Given the description of an element on the screen output the (x, y) to click on. 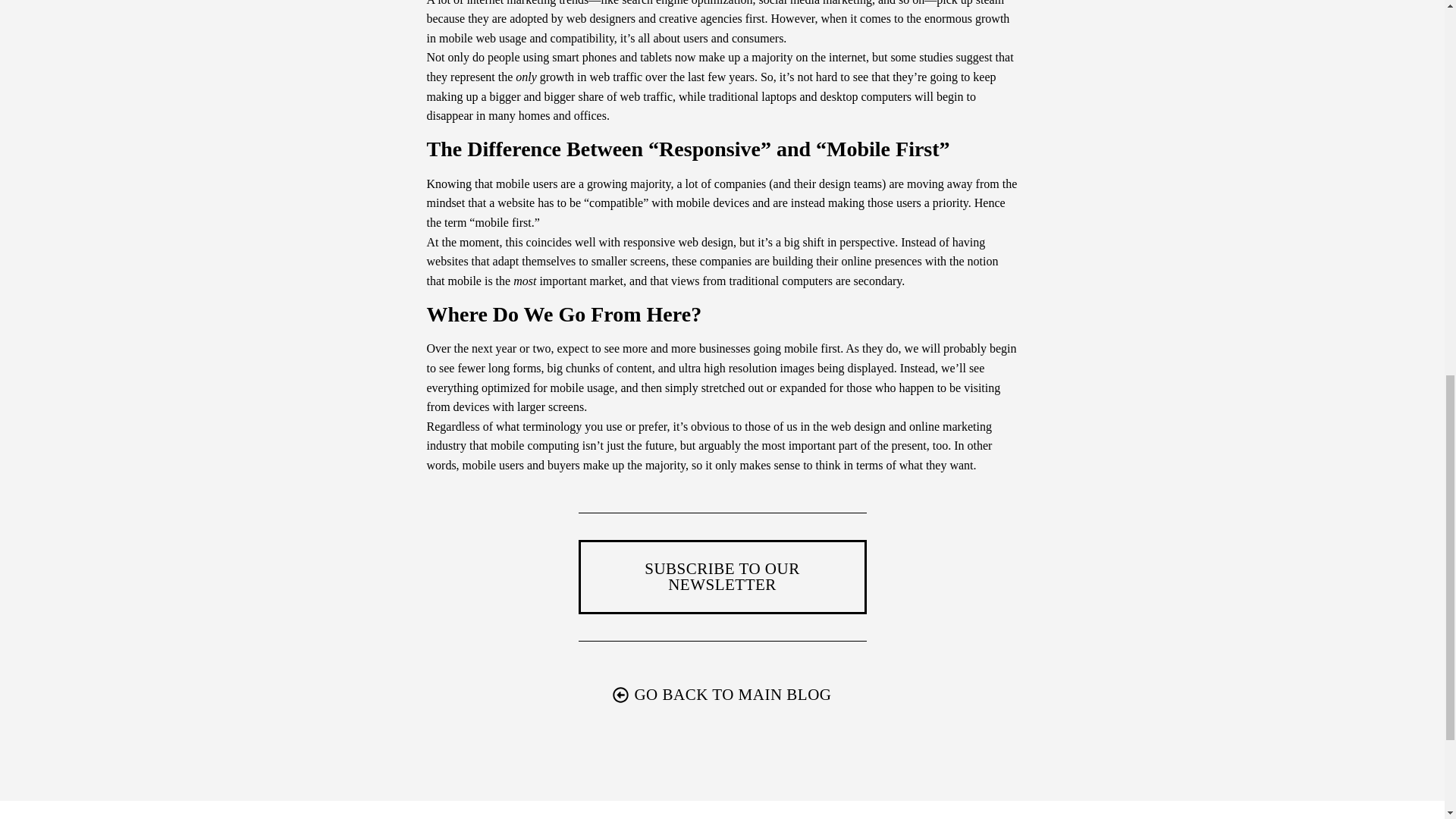
GO BACK TO MAIN BLOG (721, 696)
SUBSCRIBE TO OUR NEWSLETTER (722, 576)
